Given the description of an element on the screen output the (x, y) to click on. 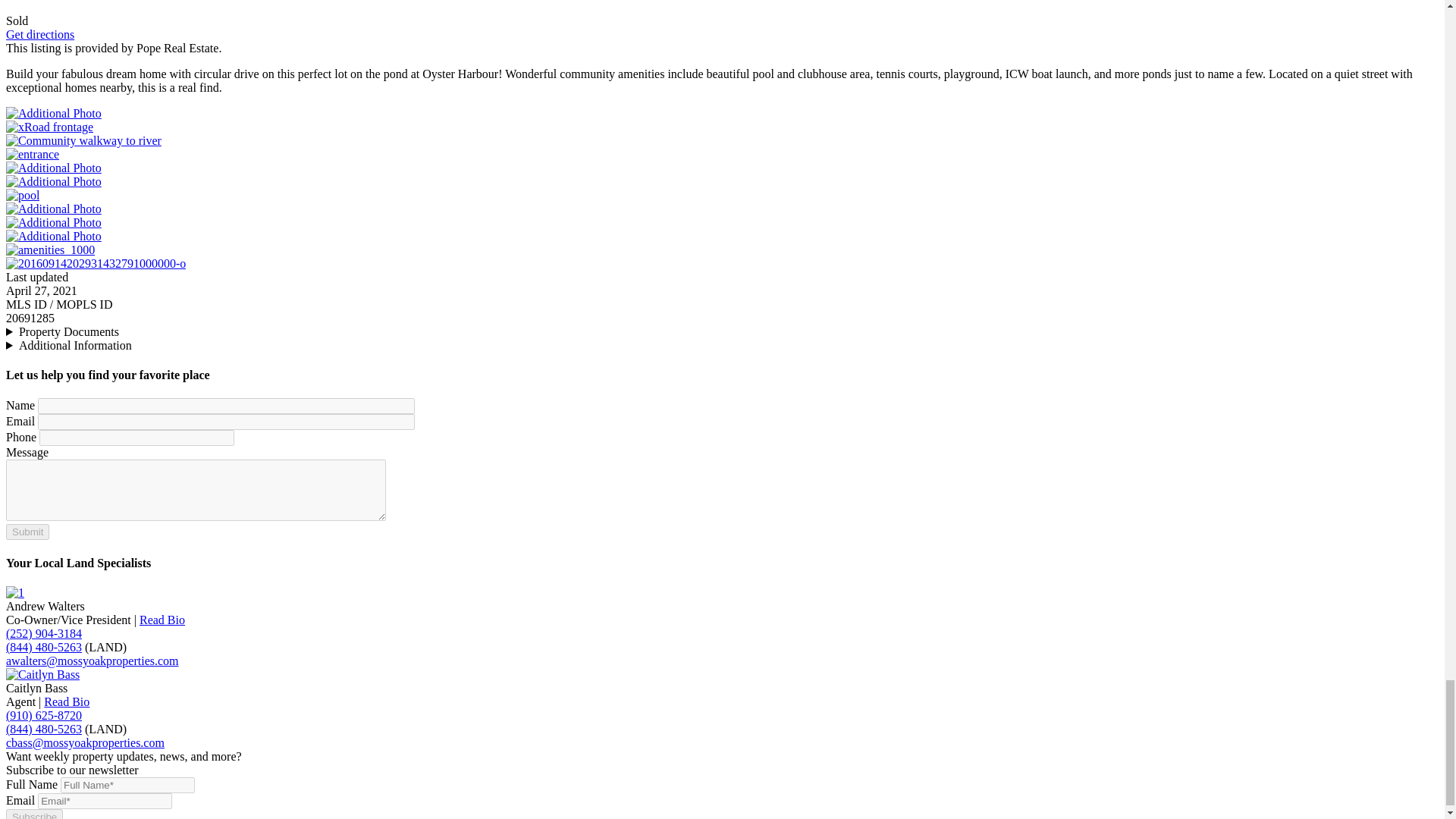
Additional Photo (53, 167)
entrance (32, 154)
Additional Photo (53, 113)
Additional Photo (53, 181)
xRoad frontage (49, 126)
Submit (27, 531)
Community walkway to river (83, 140)
